Given the description of an element on the screen output the (x, y) to click on. 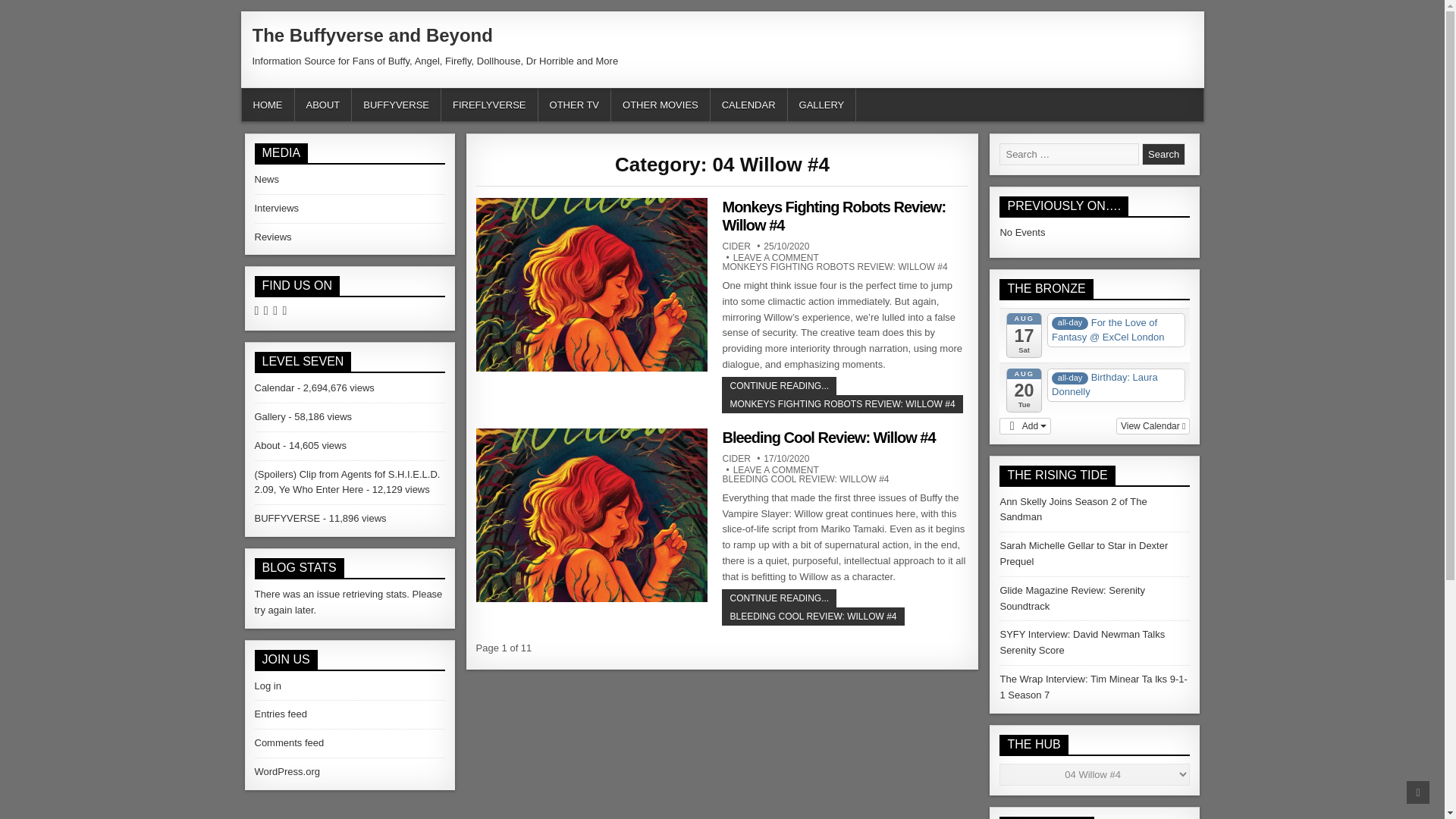
About (267, 445)
Scroll to Top (1417, 792)
Search (1163, 154)
The Buffyverse and Beyond (371, 35)
Search (1163, 154)
BUFFYVERSE (287, 518)
HOME (267, 104)
ABOUT (323, 104)
BUFFYVERSE (396, 104)
Calendar (274, 387)
